Given the description of an element on the screen output the (x, y) to click on. 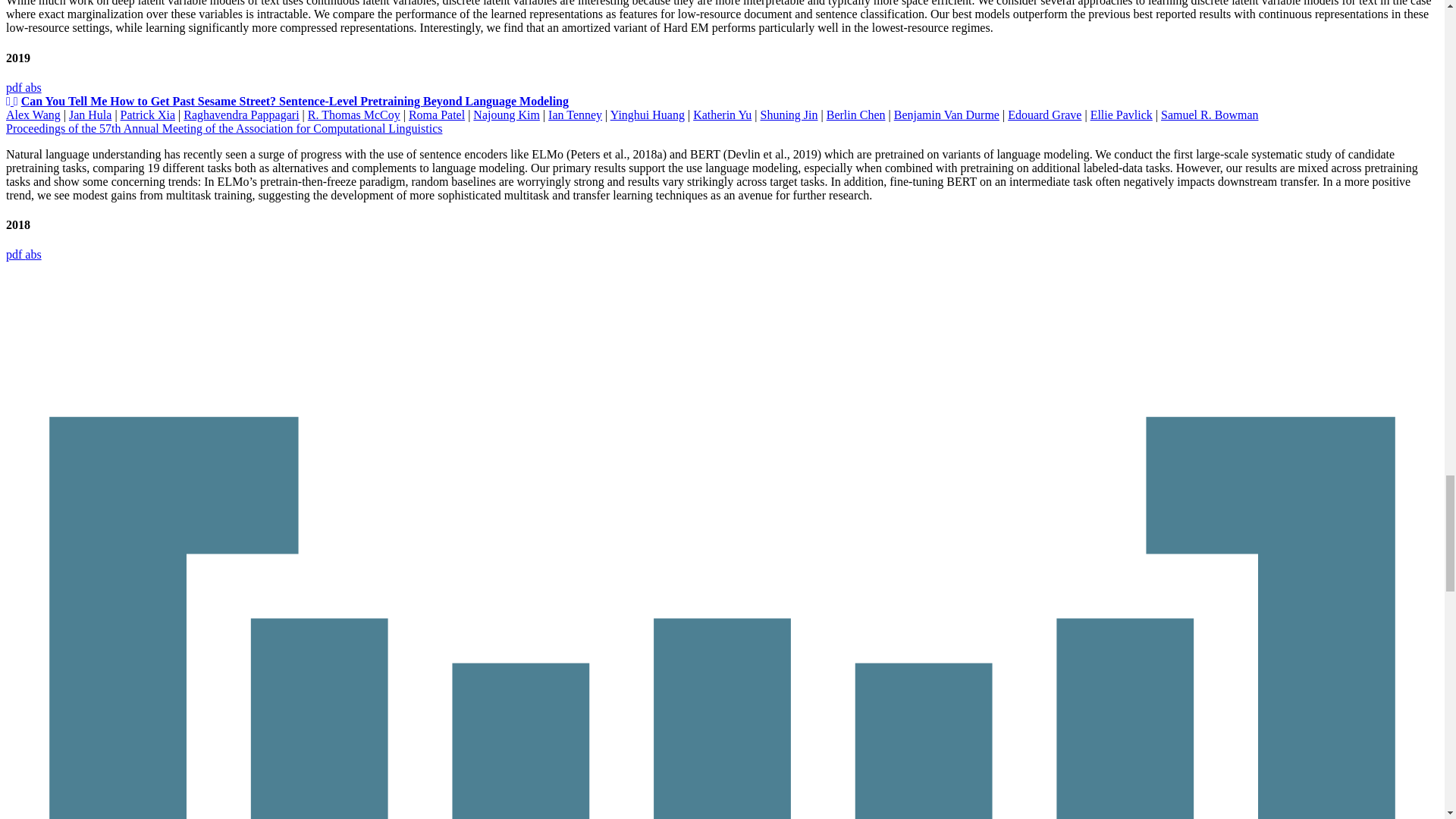
Yinghui Huang (647, 114)
Open PDF (14, 87)
R. Thomas McCoy (353, 114)
Patrick Xia (147, 114)
Najoung Kim (506, 114)
Show Abstract (32, 254)
Ian Tenney (575, 114)
pdf (14, 87)
Alex Wang (33, 114)
Show Abstract (32, 87)
Roma Patel (436, 114)
Jan Hula (90, 114)
Supplementary (9, 101)
Open PDF (14, 254)
